Given the description of an element on the screen output the (x, y) to click on. 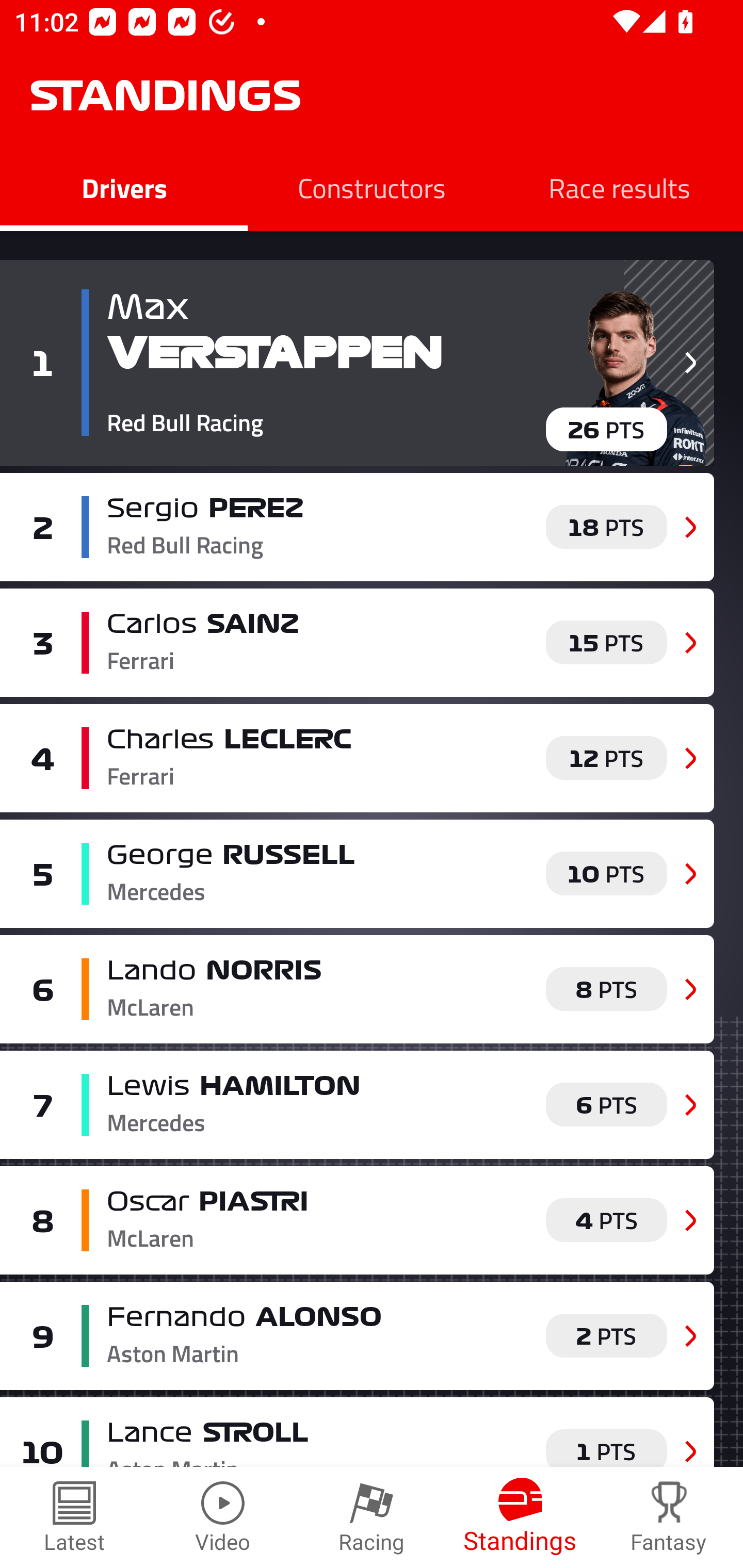
Constructors (371, 187)
Race results (619, 187)
1 Max VERSTAPPEN Red Bull Racing 26 PTS (357, 362)
2 Sergio PEREZ Red Bull Racing 18 PTS (357, 527)
3 Carlos SAINZ Ferrari 15 PTS (357, 642)
4 Charles LECLERC Ferrari 12 PTS (357, 758)
5 George RUSSELL Mercedes 10 PTS (357, 874)
6 Lando NORRIS McLaren 8 PTS (357, 988)
7 Lewis HAMILTON Mercedes 6 PTS (357, 1104)
8 Oscar PIASTRI McLaren 4 PTS (357, 1220)
9 Fernando ALONSO Aston Martin 2 PTS (357, 1335)
10 Lance STROLL Aston Martin 1 PTS (357, 1432)
Latest (74, 1517)
Video (222, 1517)
Racing (371, 1517)
Fantasy (668, 1517)
